Given the description of an element on the screen output the (x, y) to click on. 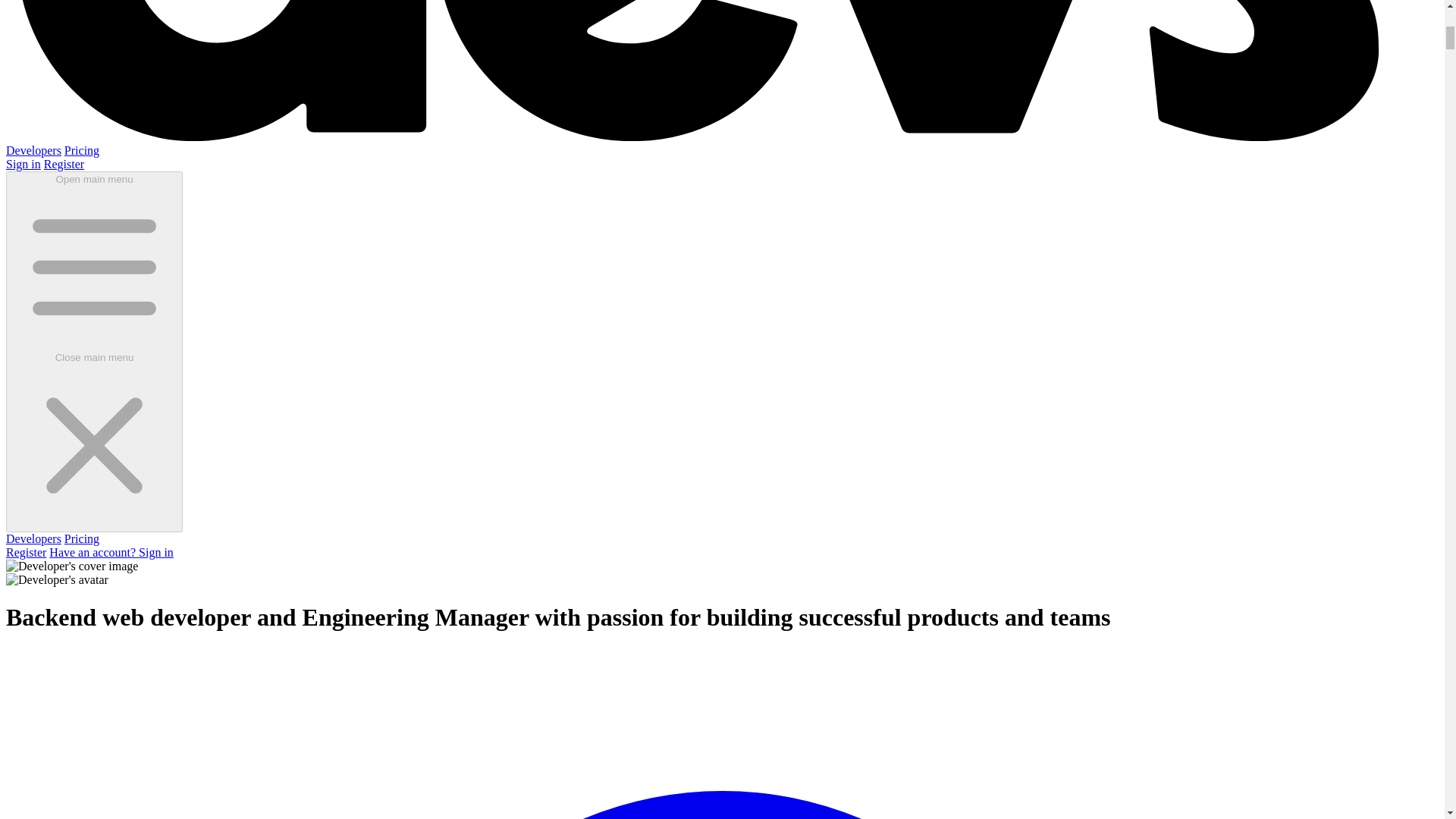
Pricing (81, 150)
Have an account? Sign in (111, 552)
Register (25, 552)
Register (63, 164)
Developers (33, 538)
Developers (33, 150)
Sign in (22, 164)
Pricing (81, 538)
